Given the description of an element on the screen output the (x, y) to click on. 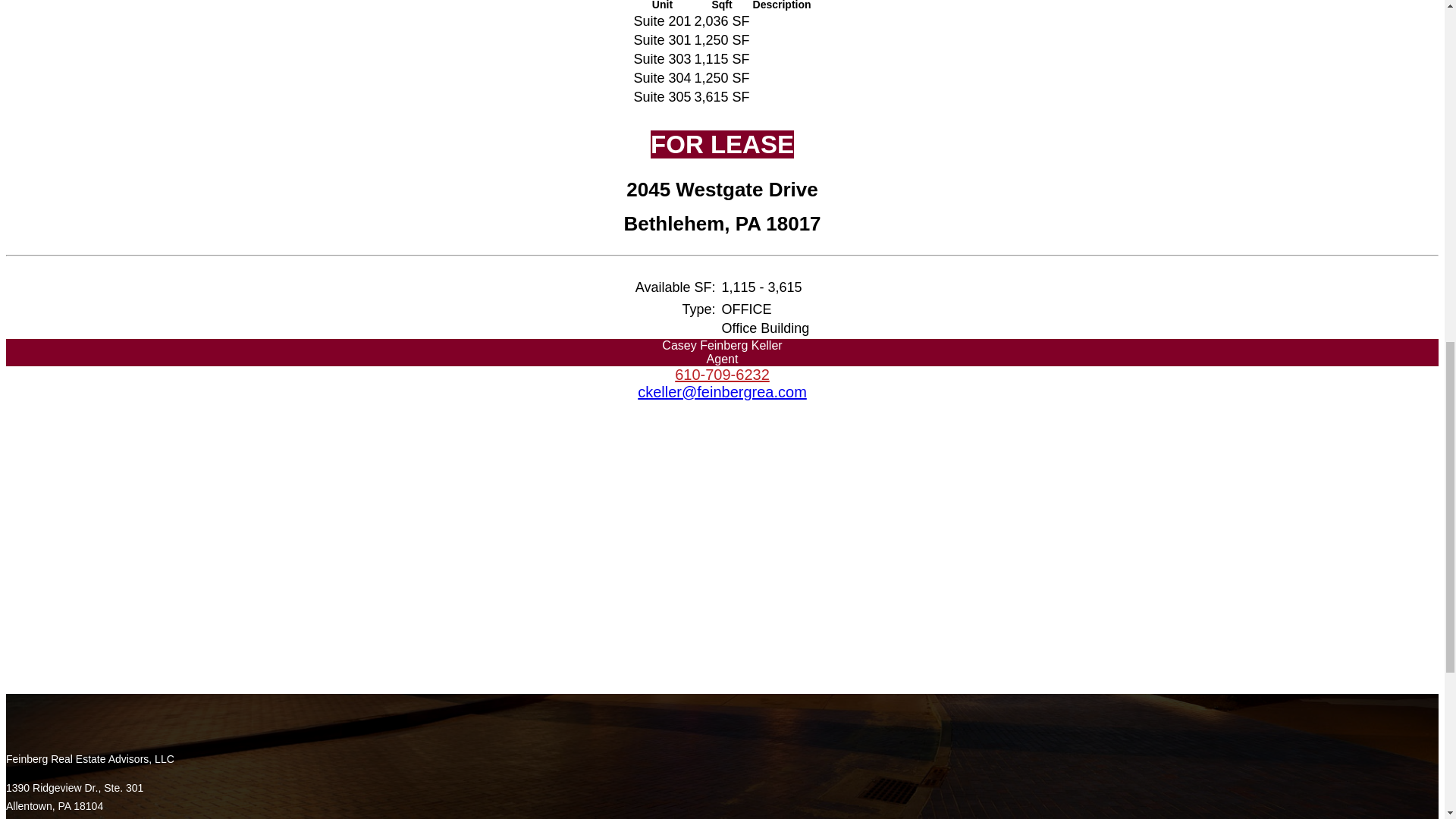
610-709-6232 (722, 374)
